Given the description of an element on the screen output the (x, y) to click on. 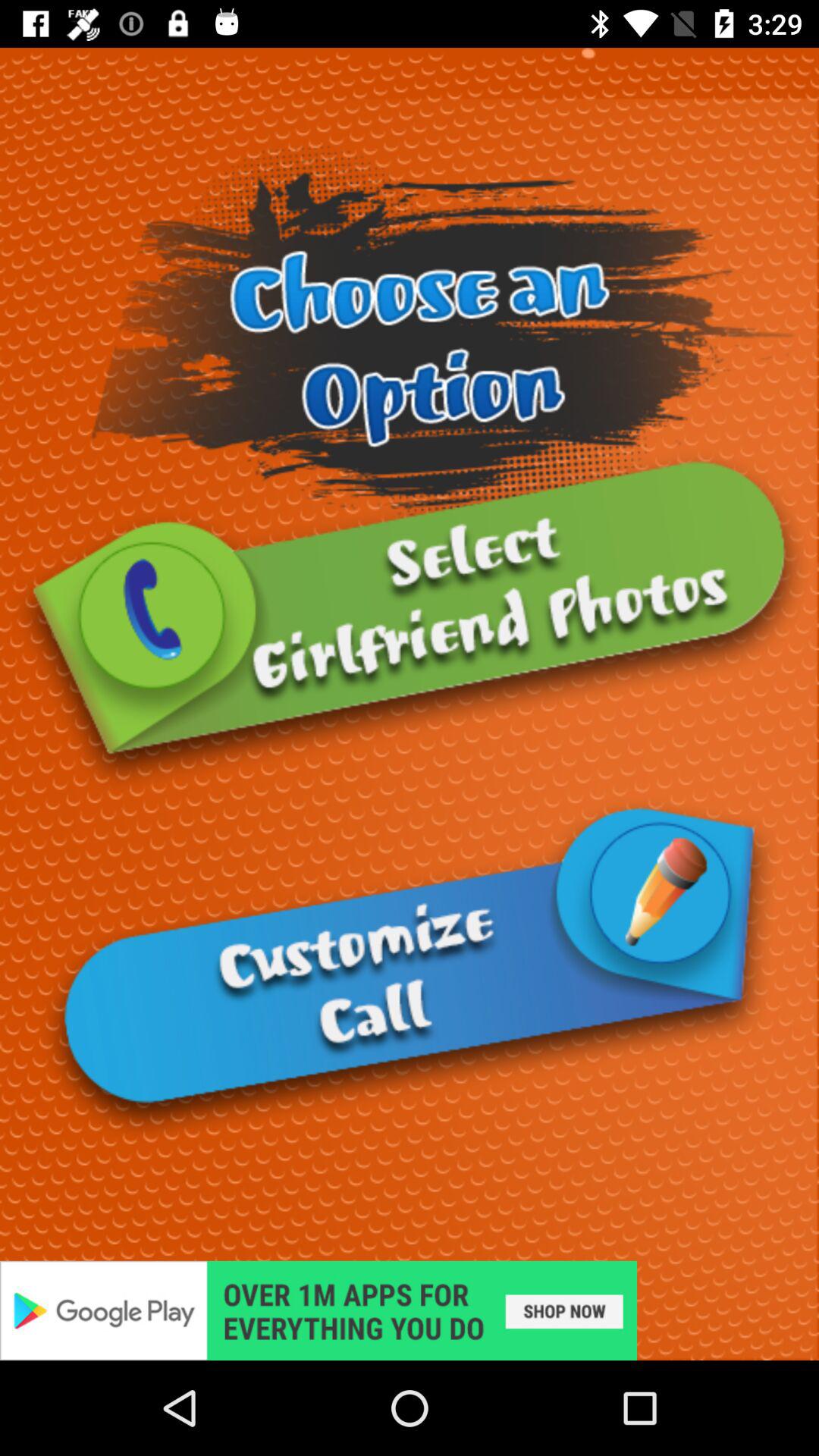
customize call (409, 969)
